Given the description of an element on the screen output the (x, y) to click on. 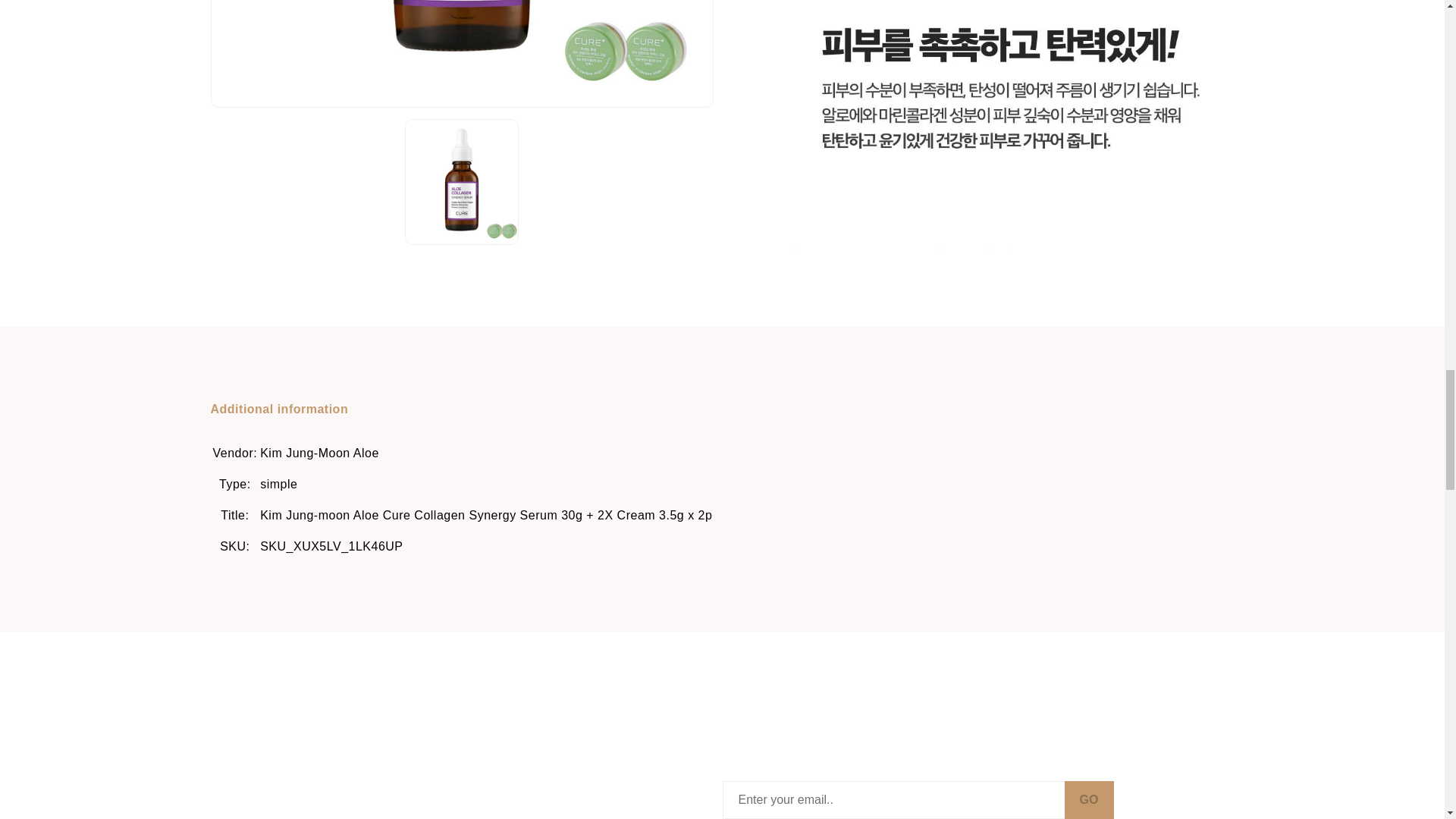
simple (278, 484)
Kim Jung-Moon Aloe (319, 453)
